Given the description of an element on the screen output the (x, y) to click on. 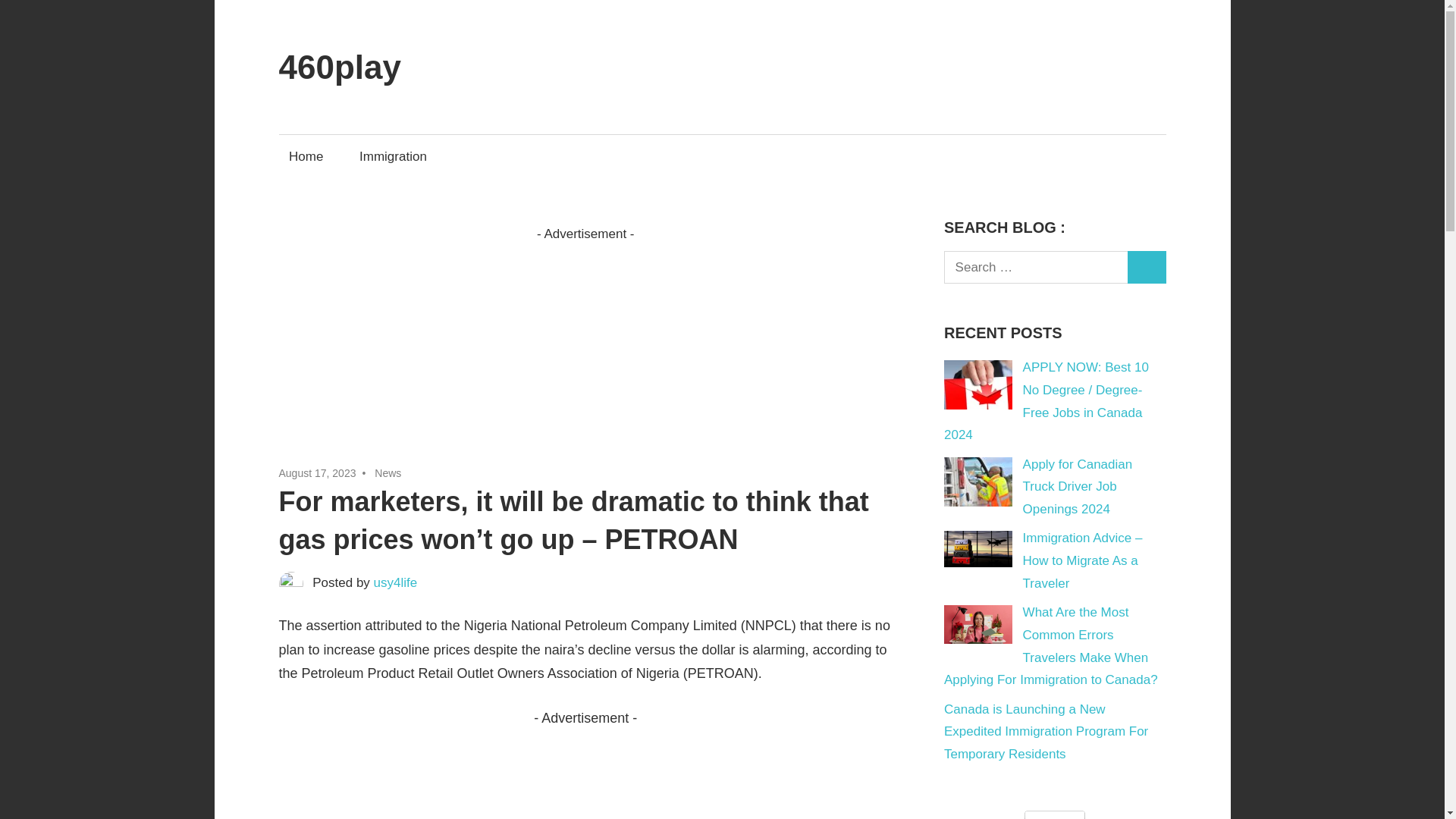
View all posts by usy4life (395, 582)
Immigration (392, 156)
Advertisement (586, 774)
Search (1146, 266)
Search for: (1035, 266)
Apply for Canadian Truck Driver Job Openings 2024 (1077, 486)
11:50 am (317, 472)
Home (306, 156)
News (387, 472)
460play (340, 66)
Apply for Canadian Truck Driver Job Openings 2024 (1077, 486)
August 17, 2023 (317, 472)
Advertisement (586, 351)
